Given the description of an element on the screen output the (x, y) to click on. 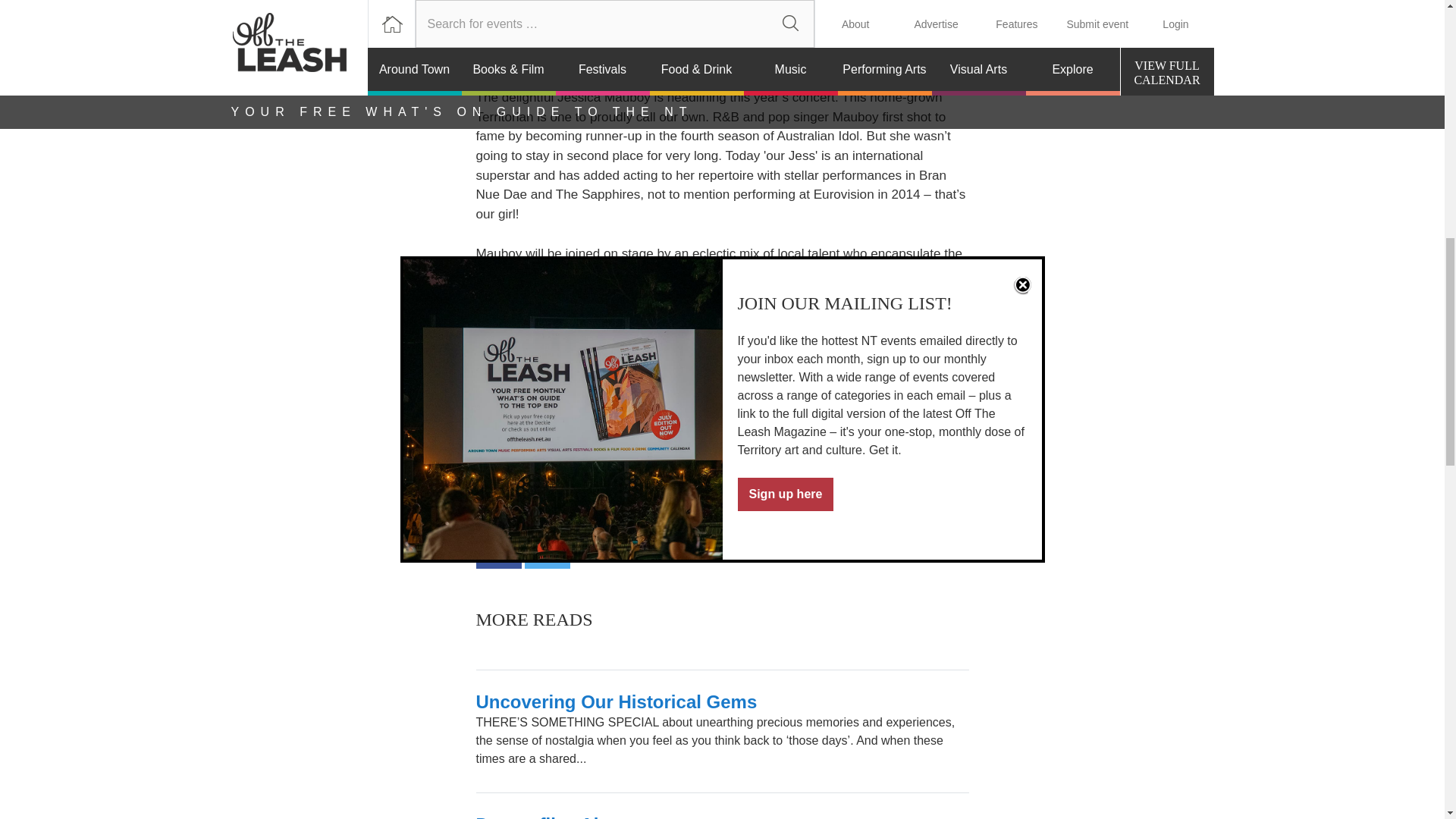
Uncovering Our Historical Gems (616, 701)
Dragonflies Abuzz (554, 816)
Share on Facebook (498, 545)
Tweet this on twitter (547, 545)
